Given the description of an element on the screen output the (x, y) to click on. 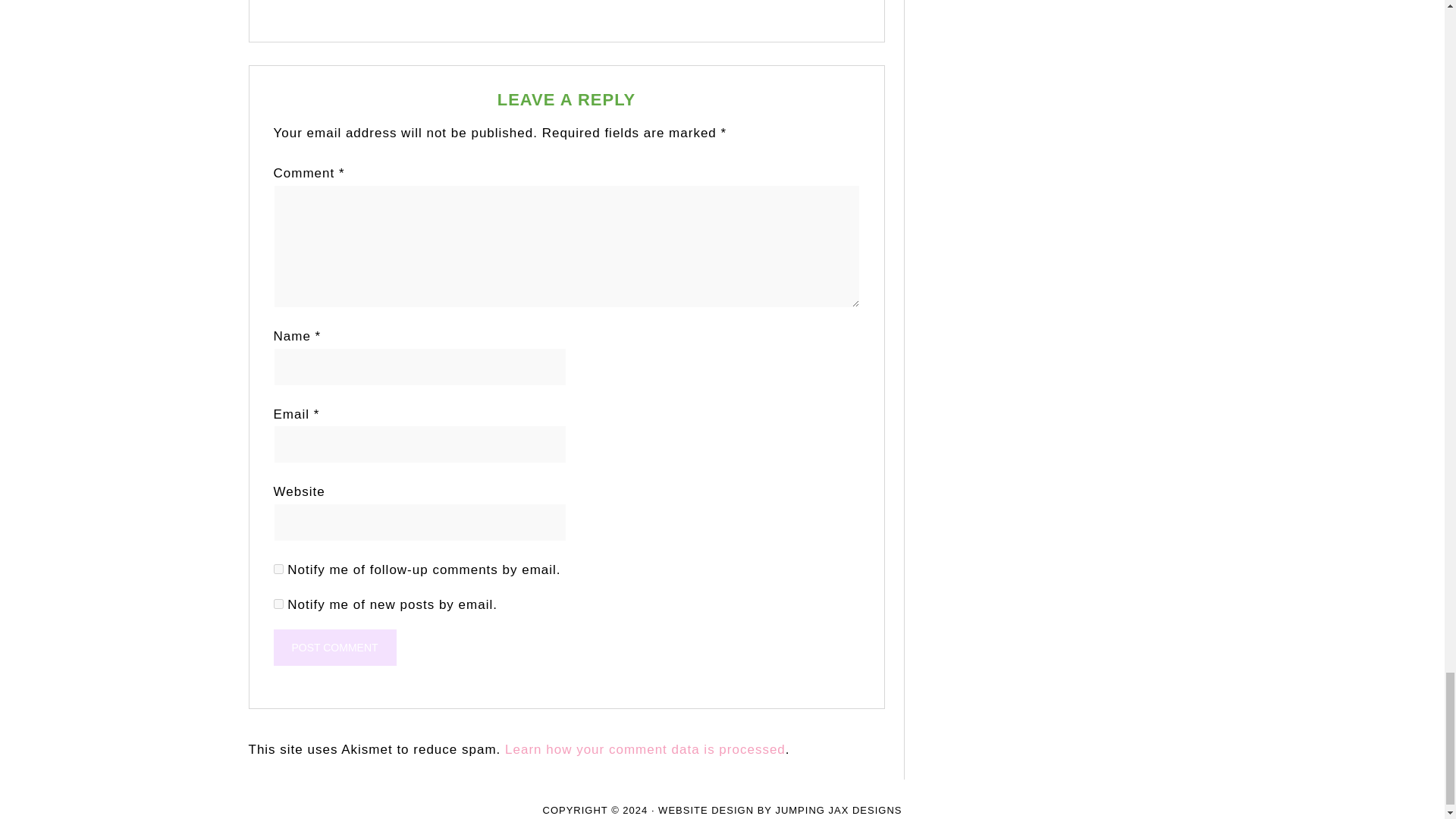
Post Comment (334, 647)
Learn how your comment data is processed (645, 749)
subscribe (277, 569)
subscribe (277, 603)
Post Comment (334, 647)
